Given the description of an element on the screen output the (x, y) to click on. 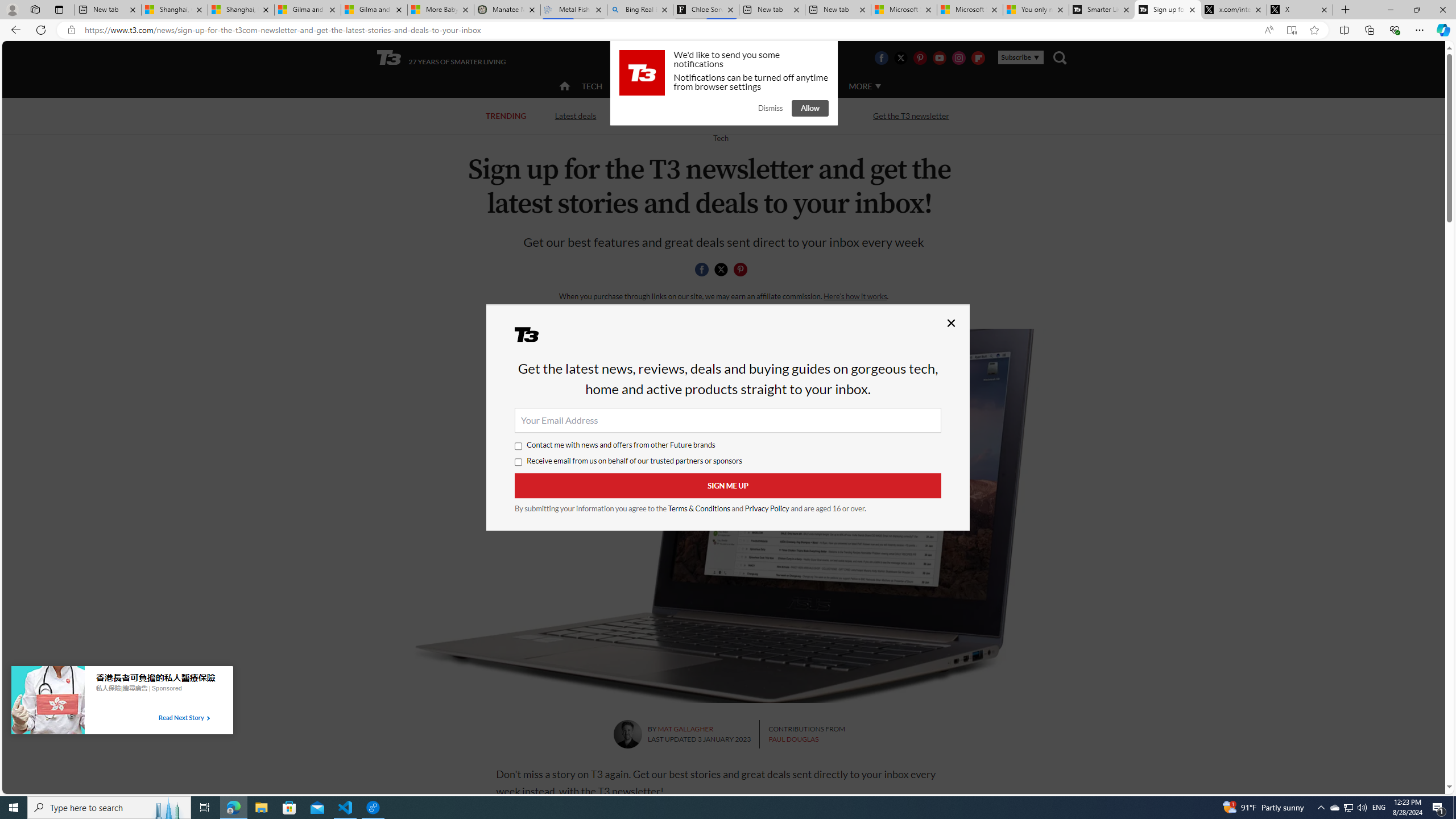
Visit us on Pintrest (919, 57)
HOME LIVING (701, 85)
T3 27 YEARS OF SMARTER LIVING (441, 57)
UK Edition (736, 57)
LUXURY (765, 86)
Visit us on Flipboard (978, 57)
Get the T3 newsletter (911, 115)
Share this page on Facebook (701, 269)
home (564, 86)
Privacy Policy (766, 508)
